Given the description of an element on the screen output the (x, y) to click on. 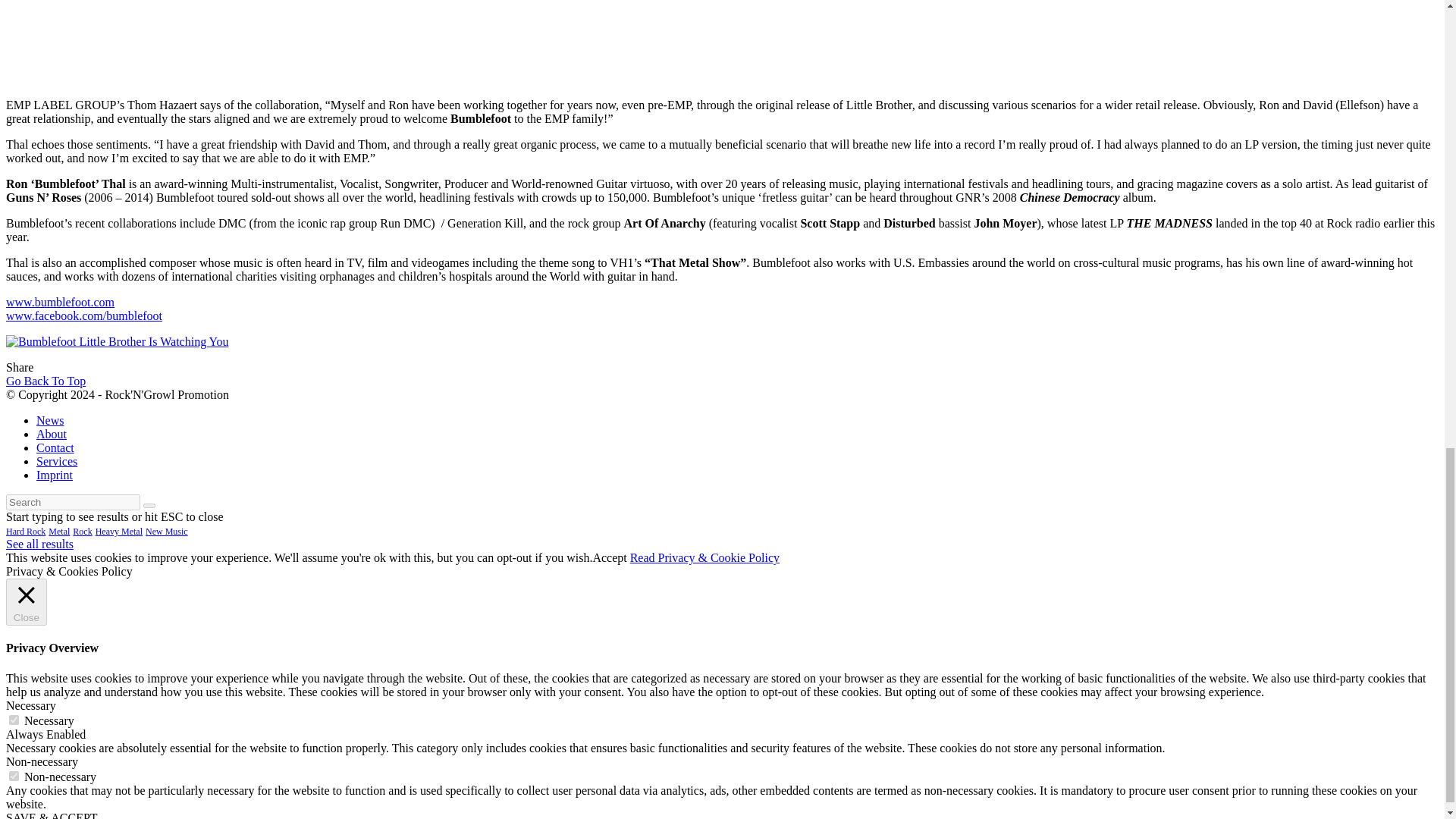
www.bumblefoot.com (60, 301)
Contact (55, 447)
News (50, 420)
Services (56, 461)
Imprint (54, 474)
Hard Rock (25, 531)
on (13, 776)
About (51, 433)
Go Back To Top (45, 380)
on (13, 719)
